Given the description of an element on the screen output the (x, y) to click on. 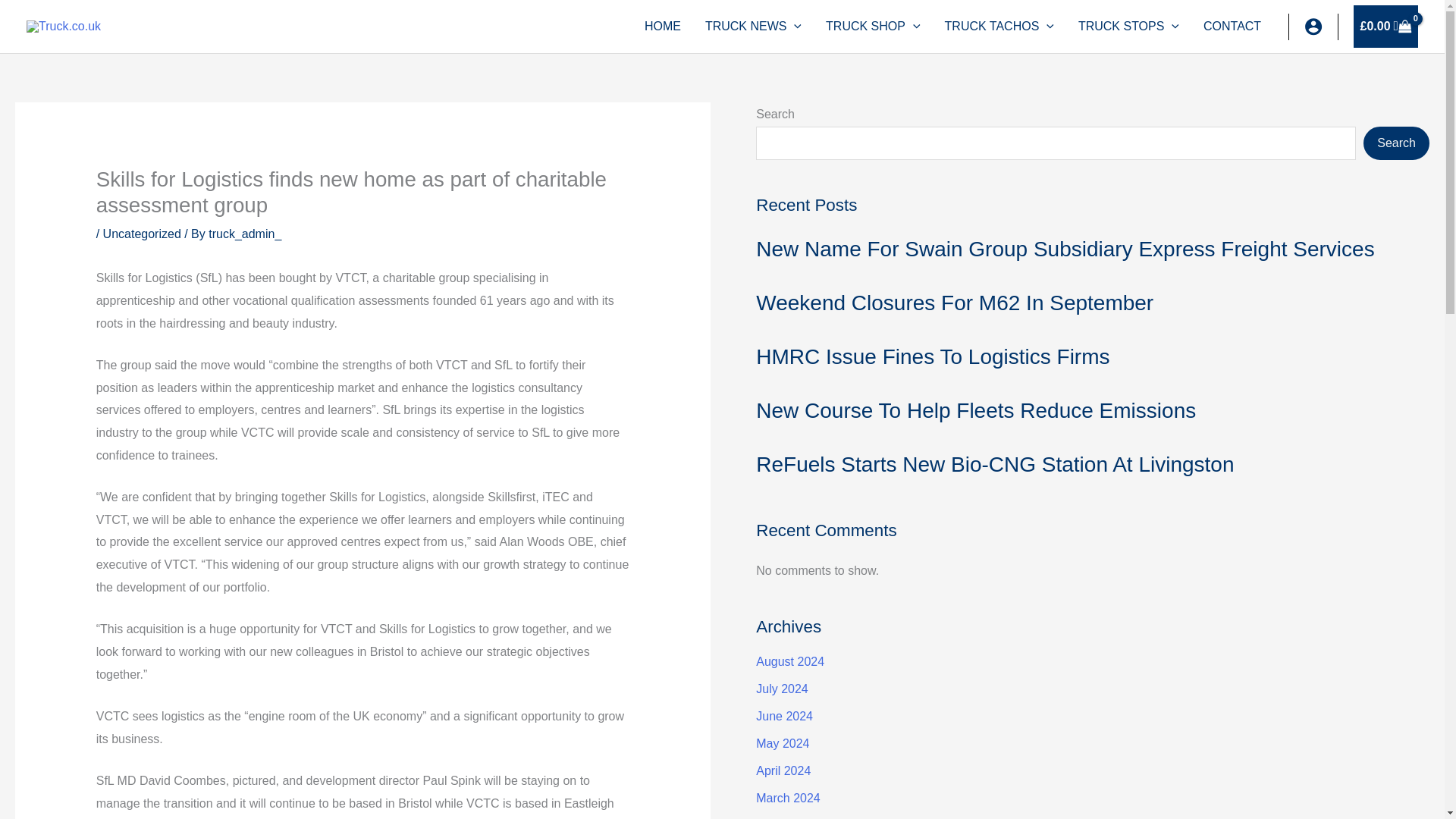
HOME (662, 26)
TRUCK NEWS (753, 26)
CONTACT (1231, 26)
TRUCK STOPS (1128, 26)
TRUCK SHOP (873, 26)
TRUCK TACHOS (999, 26)
